Given the description of an element on the screen output the (x, y) to click on. 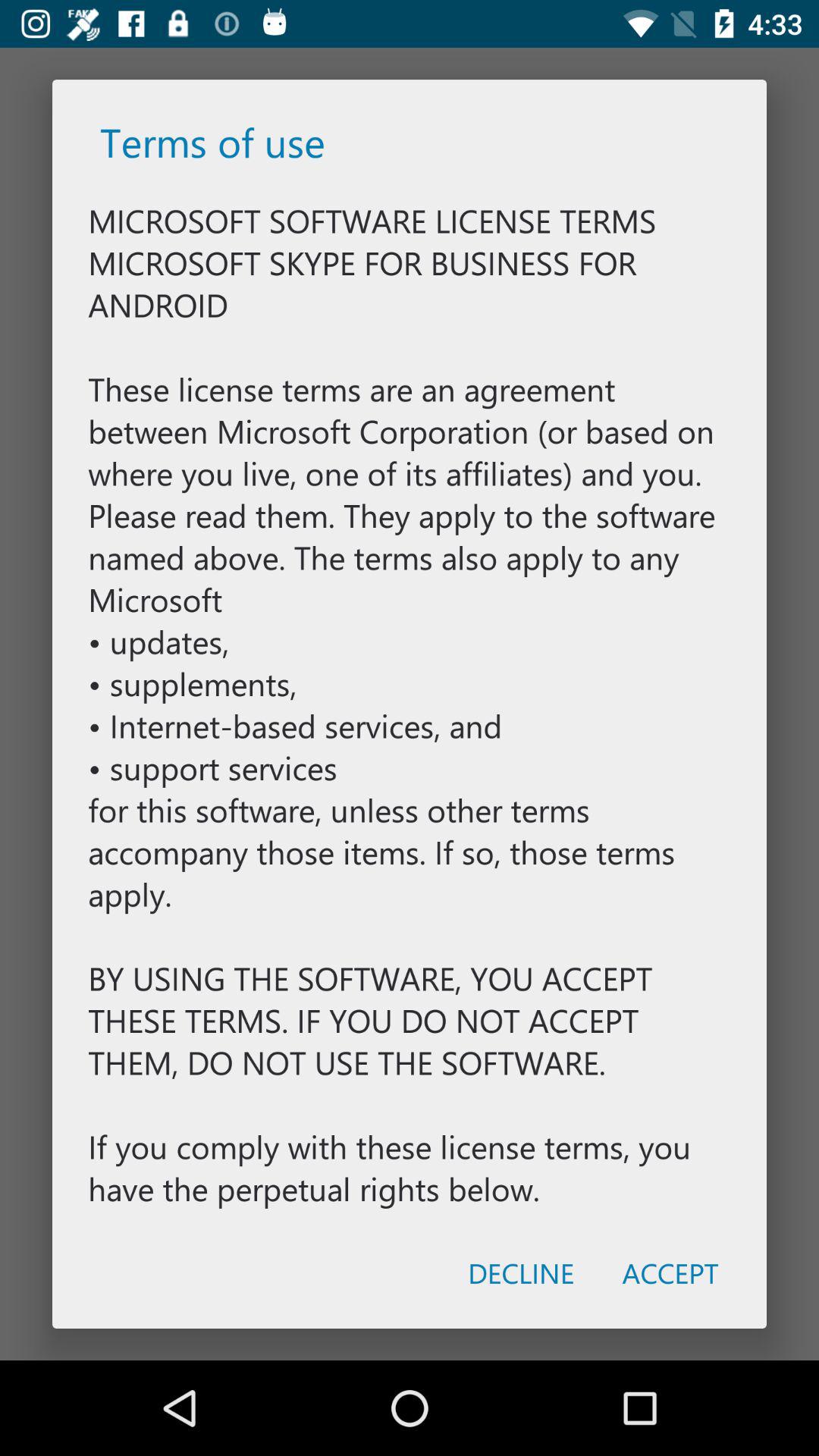
select the decline item (521, 1272)
